Given the description of an element on the screen output the (x, y) to click on. 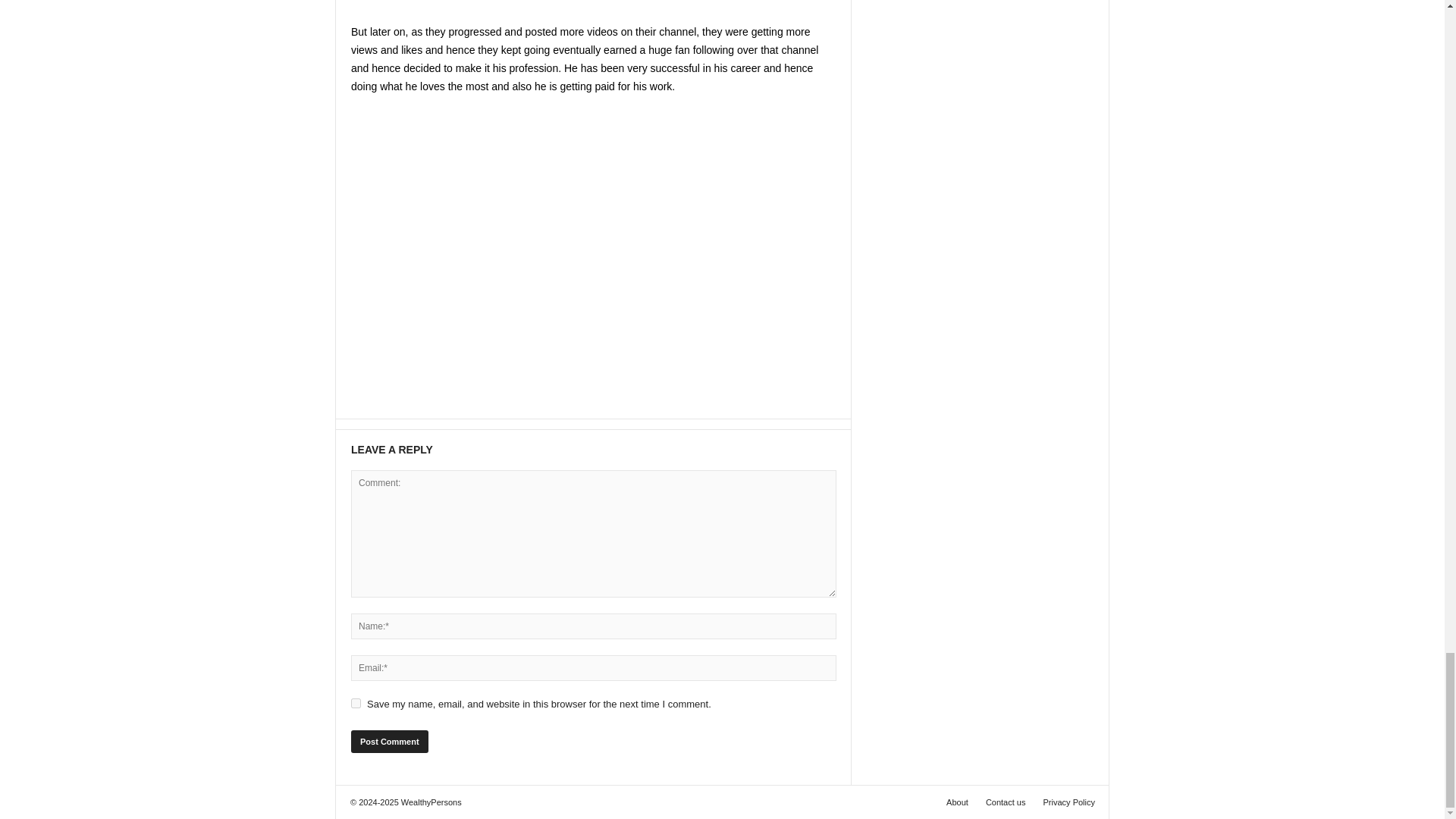
Post Comment (389, 741)
Post Comment (389, 741)
About (957, 801)
Privacy Policy (1064, 801)
yes (355, 703)
Contact us (1005, 801)
